Given the description of an element on the screen output the (x, y) to click on. 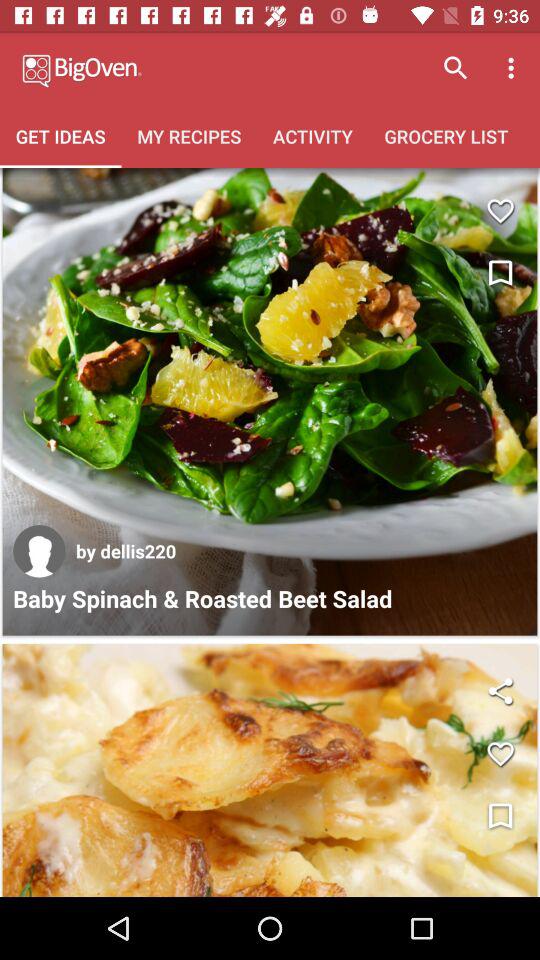
favorite (500, 753)
